Given the description of an element on the screen output the (x, y) to click on. 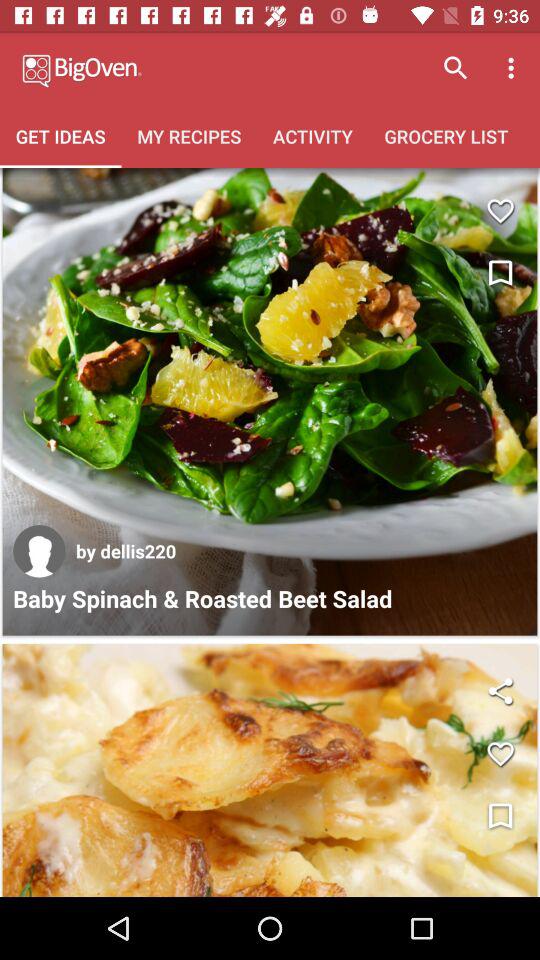
favorite (500, 753)
